Given the description of an element on the screen output the (x, y) to click on. 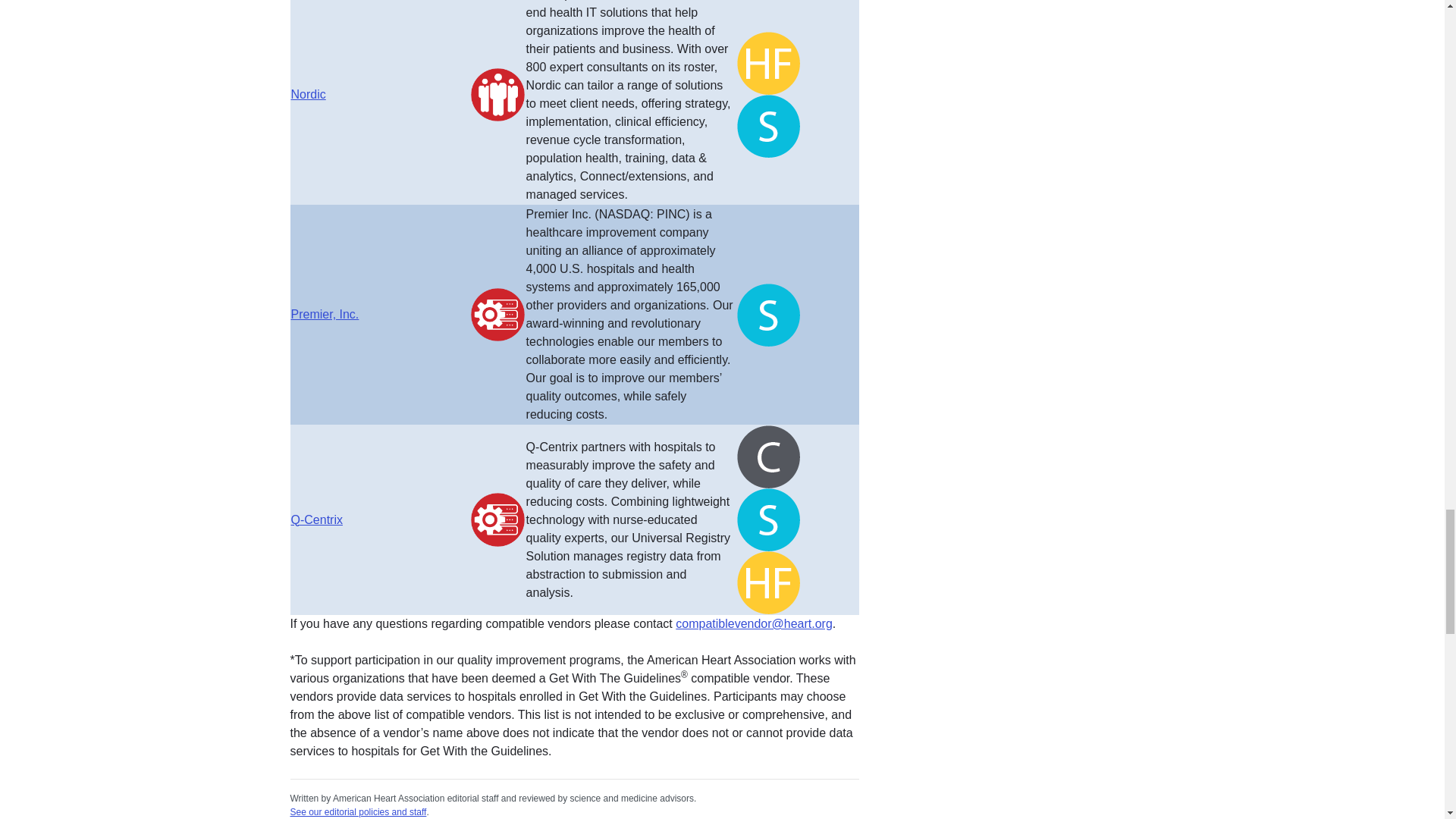
Get With The Guidelines - Stroke (767, 126)
